Given the description of an element on the screen output the (x, y) to click on. 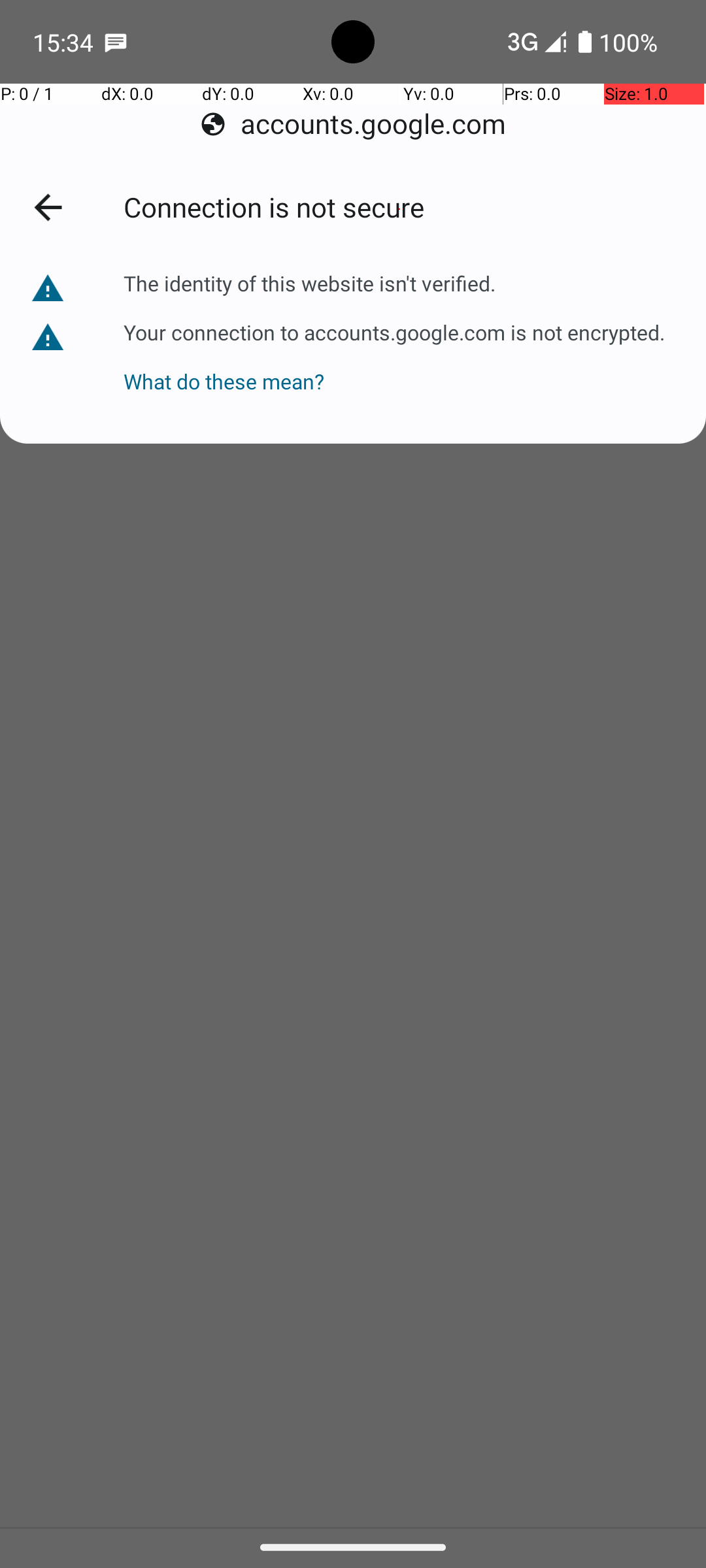
Connection is not secure Element type: android.widget.TextView (399, 209)
The identity of this website isn't verified. Element type: android.widget.TextView (311, 283)
Your connection to accounts.google.com is not encrypted. Element type: android.widget.TextView (392, 330)
What do these mean? Element type: android.widget.TextView (392, 368)
accounts.google.com Element type: android.widget.TextView (352, 124)
